Given the description of an element on the screen output the (x, y) to click on. 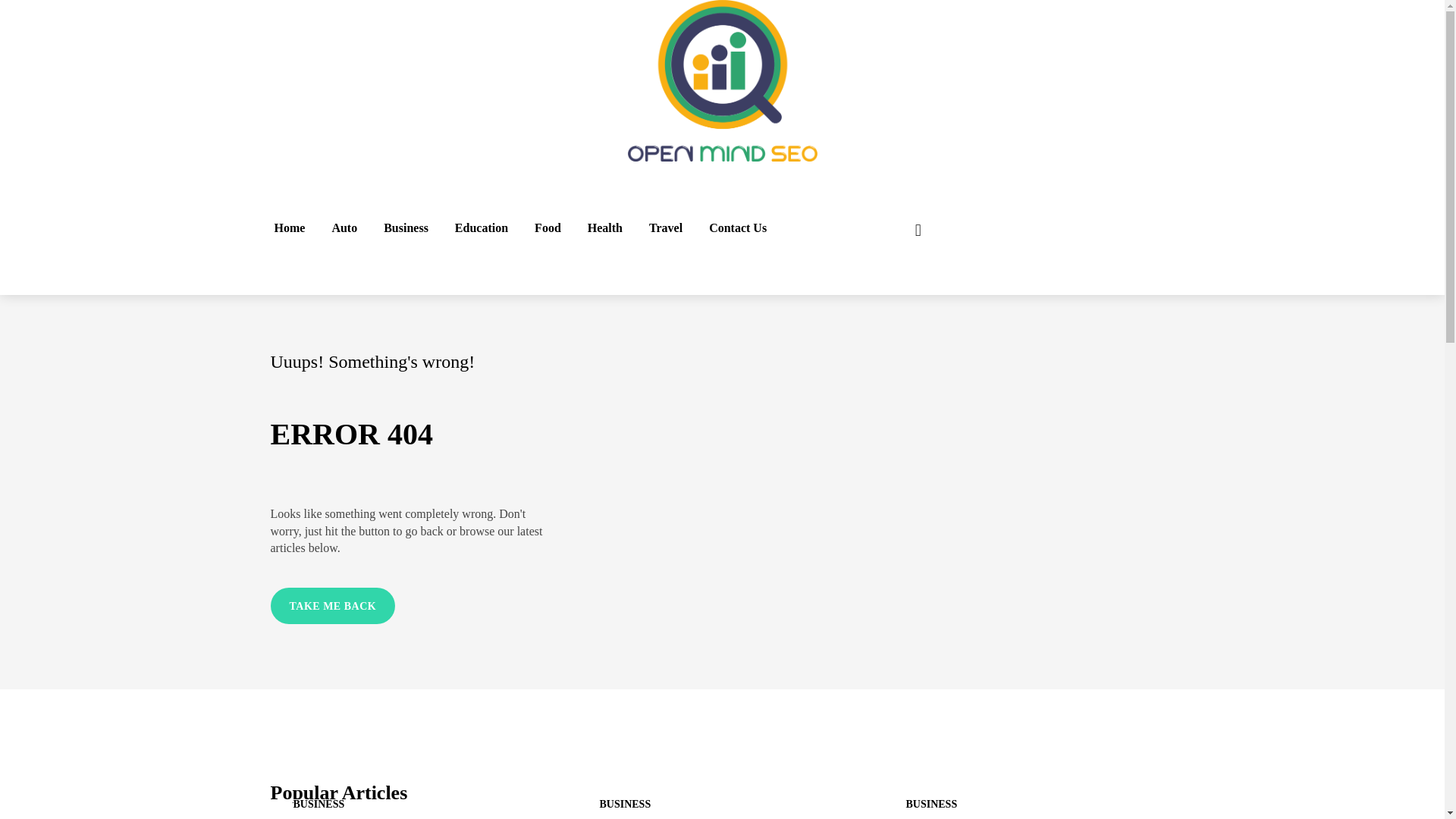
BUSINESS (624, 804)
Take Me Back (331, 606)
BUSINESS (930, 804)
Education (481, 228)
TAKE ME BACK (331, 606)
BUSINESS (317, 804)
Contact Us (737, 228)
